Given the description of an element on the screen output the (x, y) to click on. 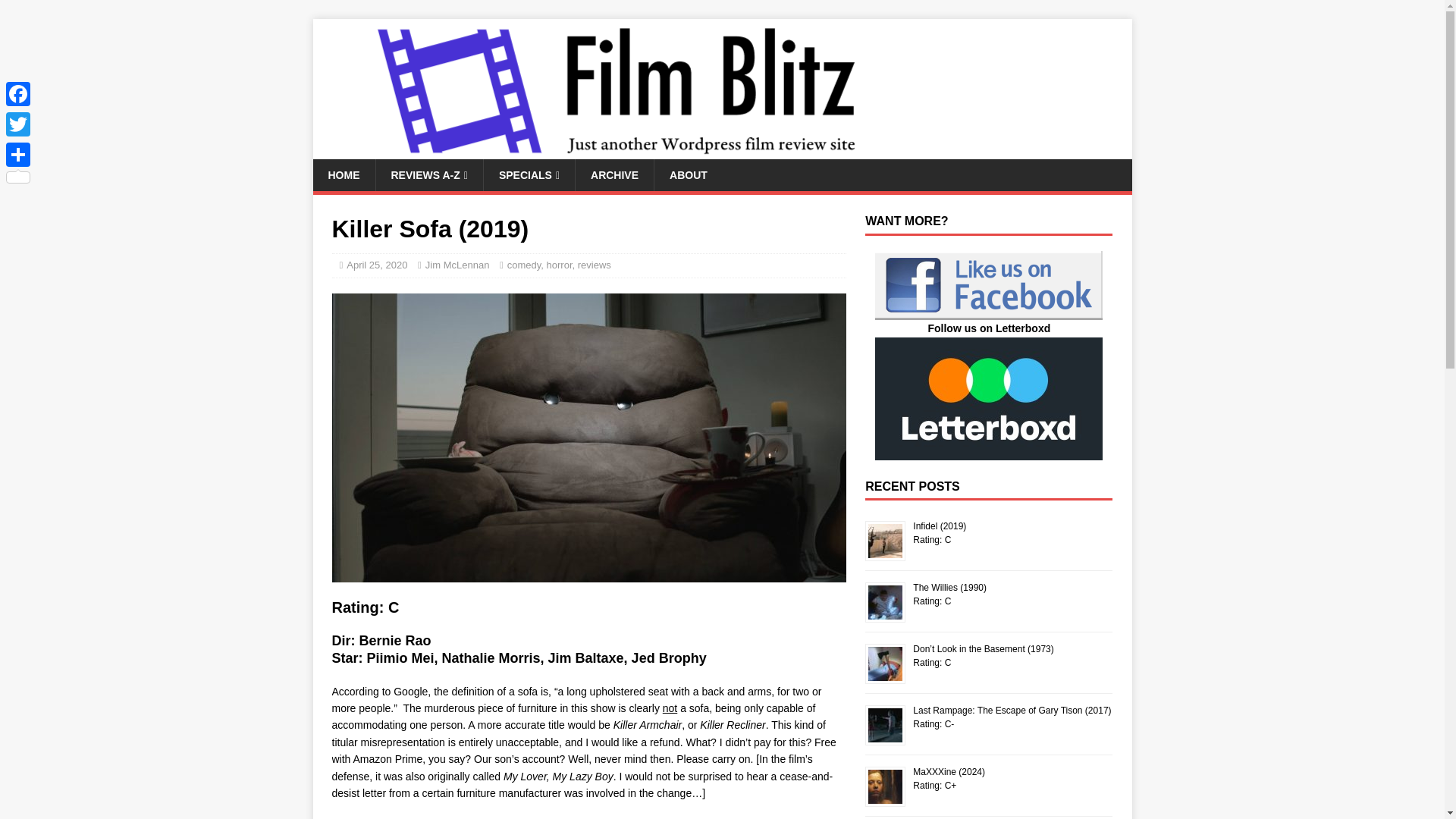
reviews (594, 265)
Twitter (17, 123)
Film Blitz (615, 150)
ABOUT (687, 174)
Jim McLennan (457, 265)
horror (559, 265)
April 25, 2020 (376, 265)
Facebook (17, 93)
comedy (523, 265)
SPECIALS (529, 174)
